Given the description of an element on the screen output the (x, y) to click on. 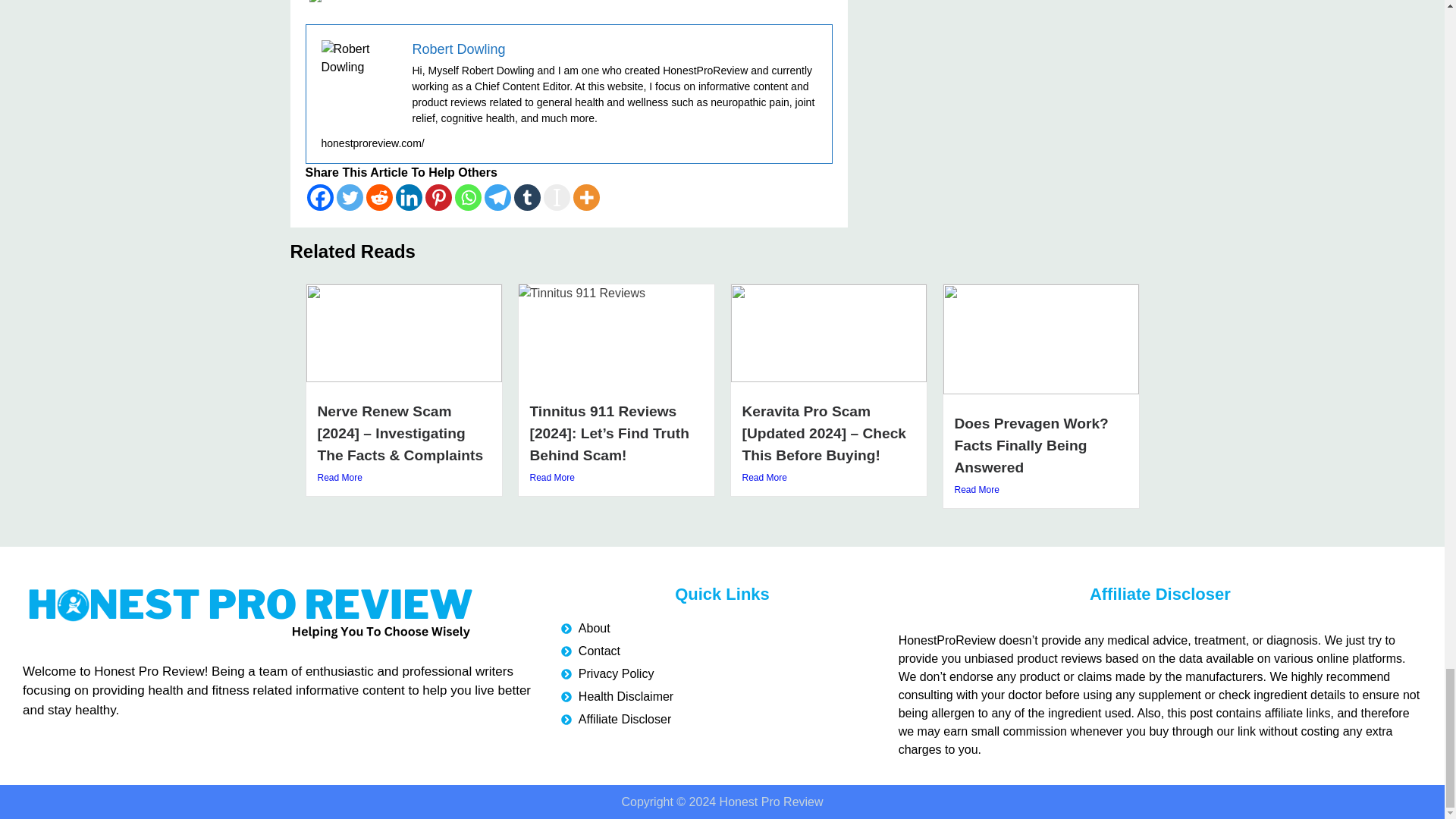
Facebook (319, 197)
Linkedin (409, 197)
Reddit (378, 197)
Twitter (349, 197)
